Given the description of an element on the screen output the (x, y) to click on. 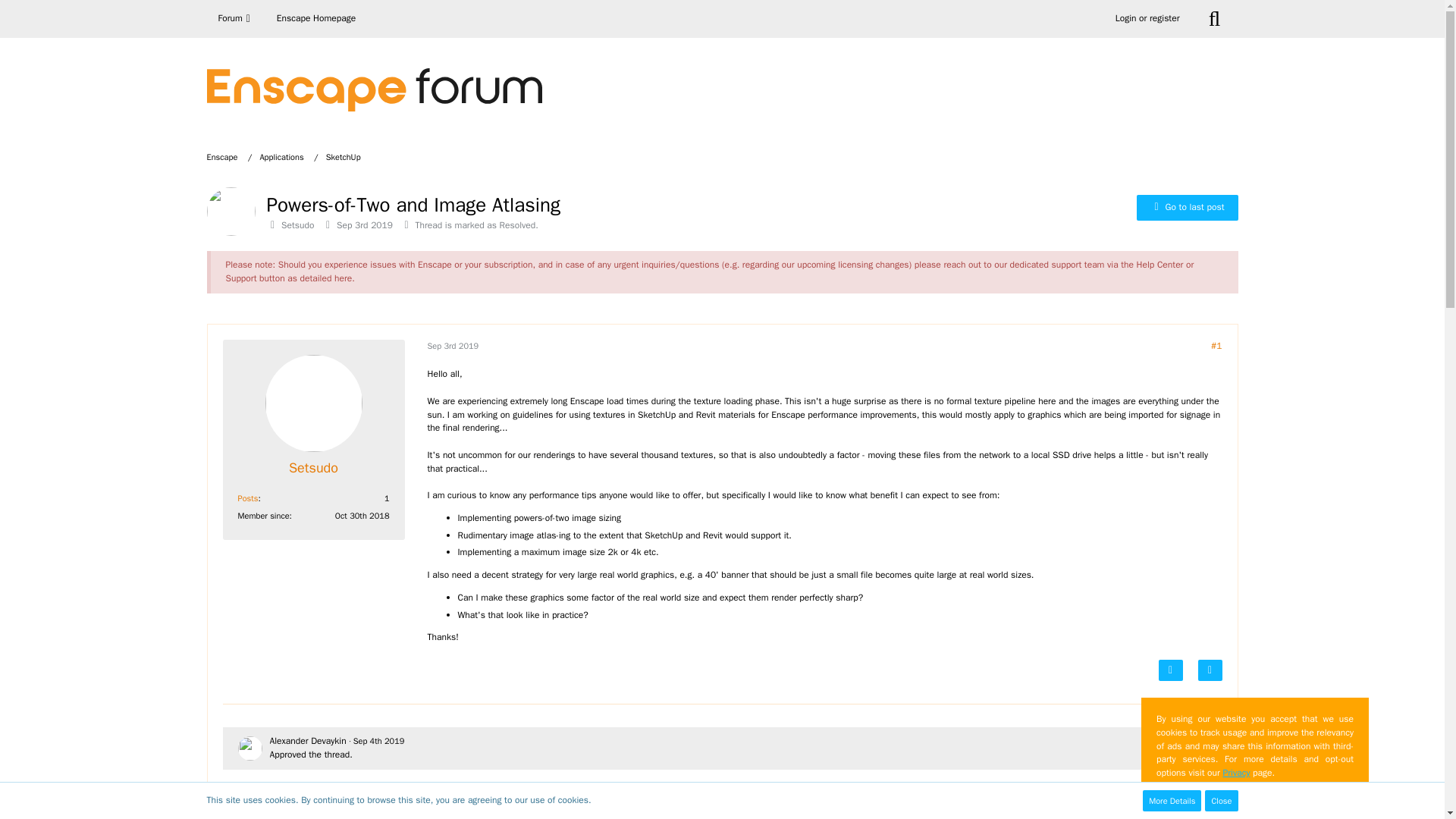
here. (344, 277)
Applications (288, 156)
Enscape (228, 156)
Sep 4th 2019 (453, 818)
Enscape (221, 156)
SketchUp (343, 156)
e.g. regarding our upcoming licensing changes (816, 264)
Jump to last post (1188, 207)
Go to last post (1188, 207)
Alexander Devaykin (307, 740)
Login or register (1147, 18)
Sep 3rd 2019 (364, 224)
Enscape Homepage (315, 18)
Setsudo (297, 224)
Posts (248, 498)
